Given the description of an element on the screen output the (x, y) to click on. 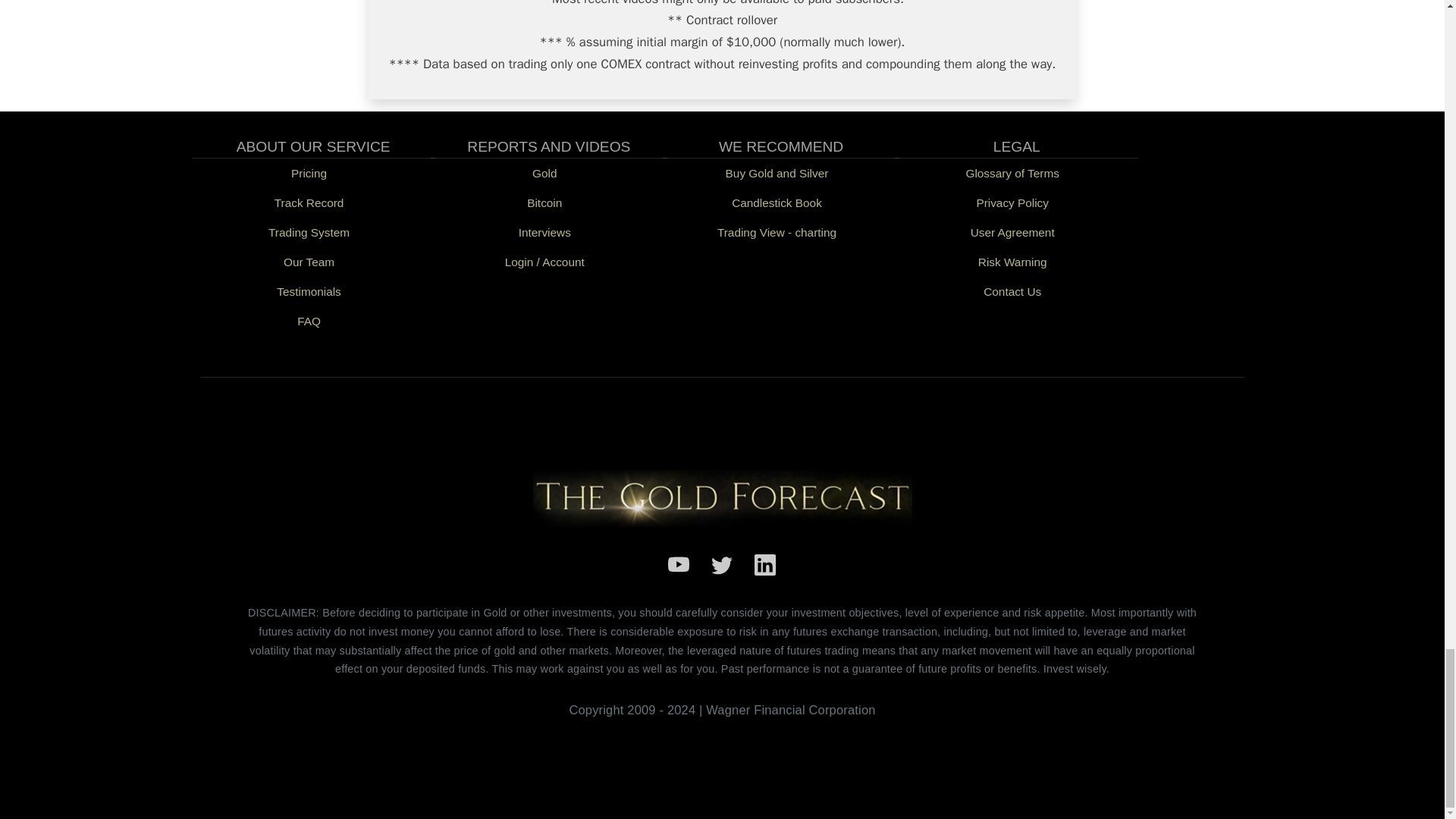
Track record for past 10 years (308, 202)
View most recent gold reports (544, 173)
Trading Applications of Japanese Candlestick Charting  (776, 202)
Trading System (308, 232)
Track Record (308, 202)
Buy physical bullion gold (776, 173)
Pricing for premium subscriptions (308, 173)
See what other people have to say about The Gold Forecast (308, 291)
Learn about our team (308, 261)
Pricing (308, 173)
Go back to Home Page (721, 497)
Gary Wagner on presents on other networks (544, 232)
Frequently Asked Questions (308, 320)
Questions? We'll respond shortly (1012, 291)
Read more about our trading system (308, 232)
